Given the description of an element on the screen output the (x, y) to click on. 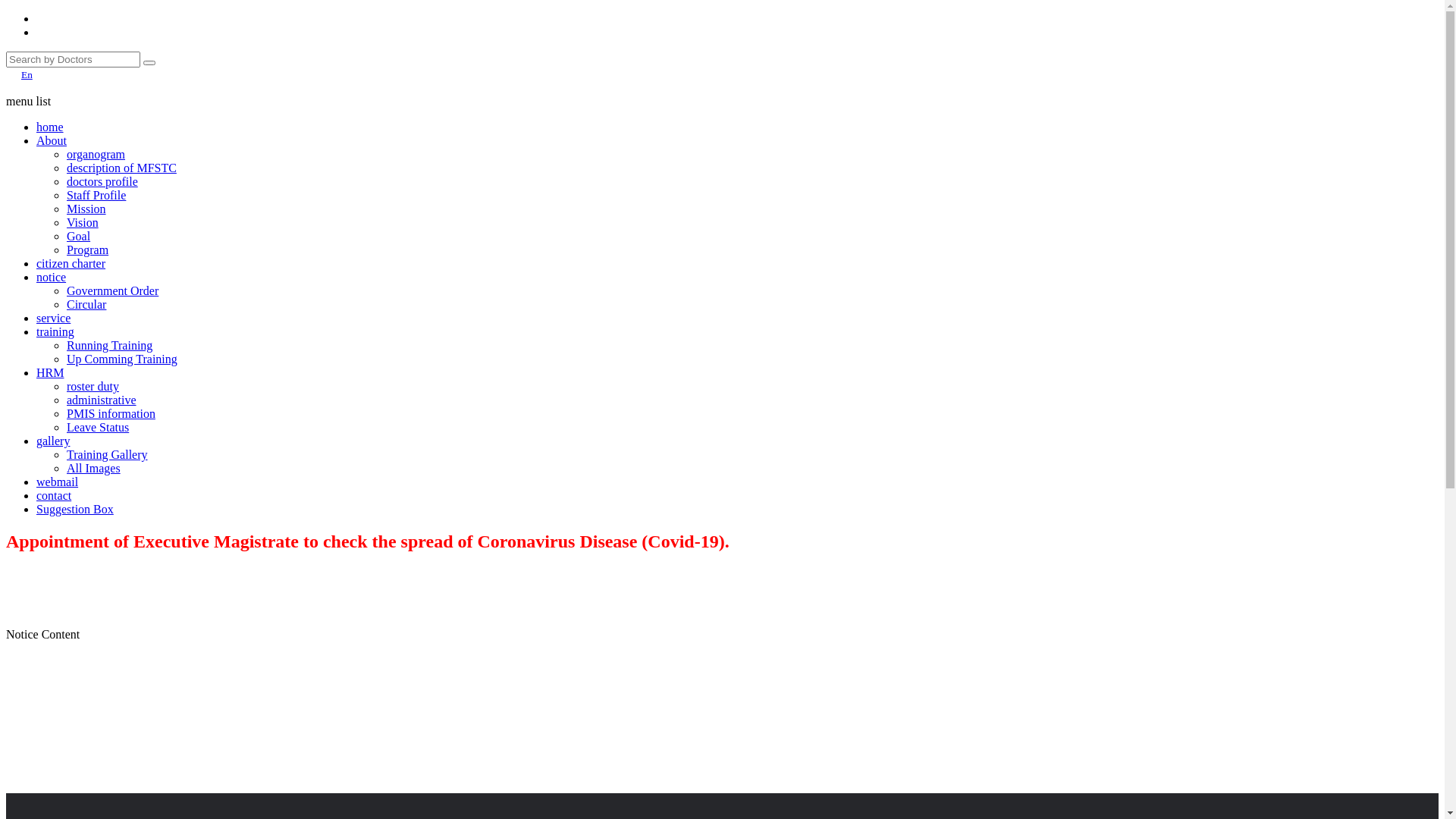
roster duty Element type: text (92, 385)
Leave Status Element type: text (97, 426)
home Element type: text (49, 126)
En Element type: text (722, 74)
Training Gallery Element type: text (106, 454)
doctors profile Element type: text (102, 181)
Vision Element type: text (82, 222)
Circular Element type: text (86, 304)
Program Element type: text (87, 249)
All Images Element type: text (93, 467)
Mission Element type: text (86, 208)
About Element type: text (51, 140)
administrative Element type: text (101, 399)
PMIS information Element type: text (110, 413)
Up Comming Training Element type: text (121, 358)
organogram Element type: text (95, 153)
HRM Element type: text (49, 372)
notice Element type: text (50, 276)
Government Order Element type: text (112, 290)
webmail Element type: text (57, 481)
Goal Element type: text (78, 235)
Suggestion Box Element type: text (74, 508)
contact Element type: text (53, 495)
Running Training Element type: text (109, 344)
citizen charter Element type: text (70, 263)
service Element type: text (53, 317)
Staff Profile Element type: text (95, 194)
description of MFSTC Element type: text (121, 167)
training Element type: text (55, 331)
gallery Element type: text (52, 440)
